Given the description of an element on the screen output the (x, y) to click on. 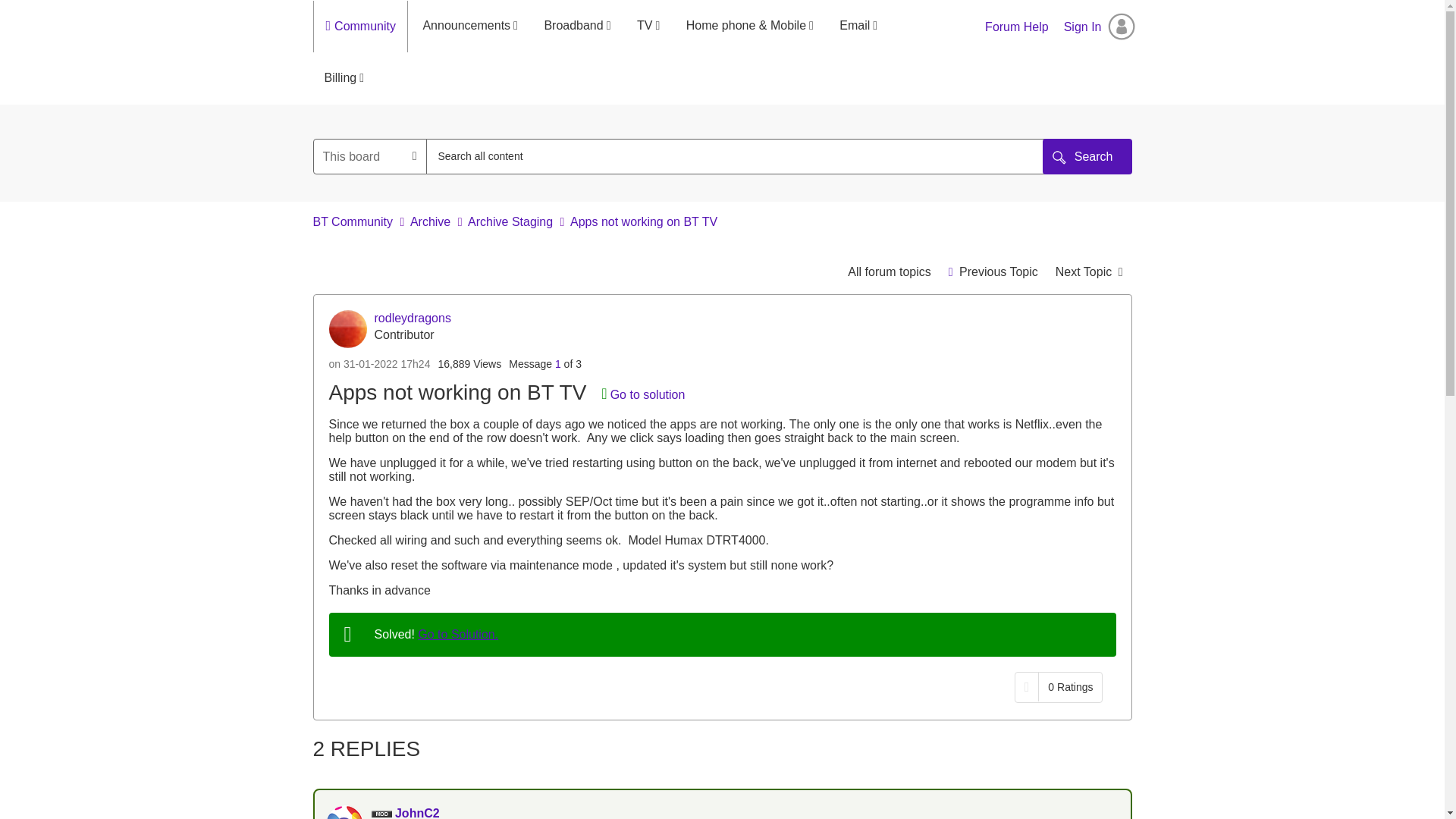
Broadband (576, 25)
All forum topics (888, 271)
BT box pro tv (992, 271)
Archive (429, 221)
BT Community (353, 221)
Search Granularity (370, 156)
Announcements (469, 25)
Archive Staging (888, 271)
The total number of ratings this post has received. (1070, 686)
Search (1087, 156)
Please log in or sign up for an account. (1026, 686)
Cancelling BT sport monthly pass (1089, 271)
Archive Staging (510, 221)
TV (648, 25)
Email (858, 25)
